Given the description of an element on the screen output the (x, y) to click on. 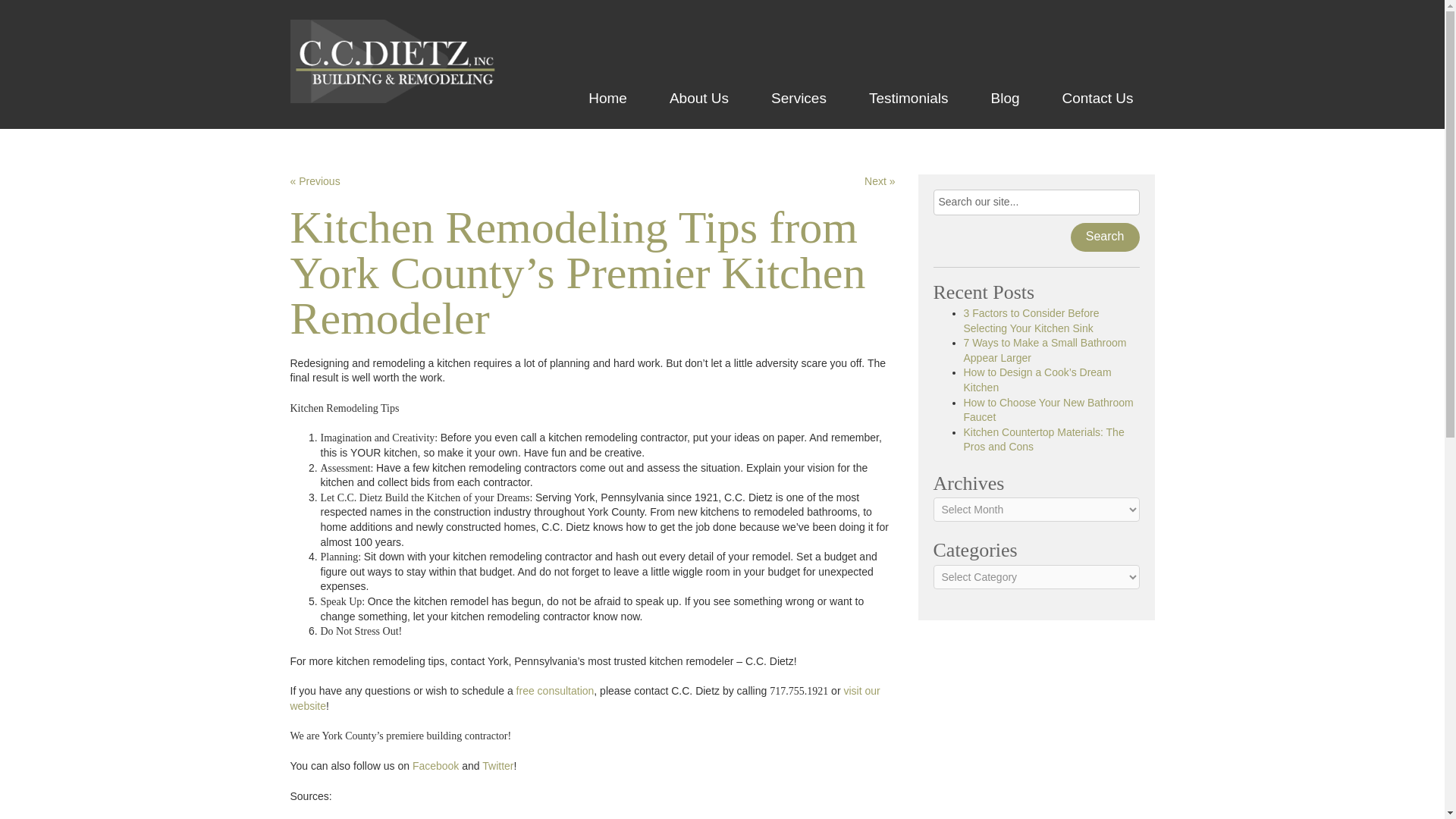
visit our website (584, 697)
Facebook (435, 766)
Search (1105, 236)
Testimonials (908, 97)
Twitter (497, 766)
Services (798, 97)
Blog (1005, 97)
Search our site... (1035, 202)
Search (1105, 236)
free consultation (555, 690)
Home (607, 97)
Contact Us (1097, 97)
About Us (698, 97)
